Given the description of an element on the screen output the (x, y) to click on. 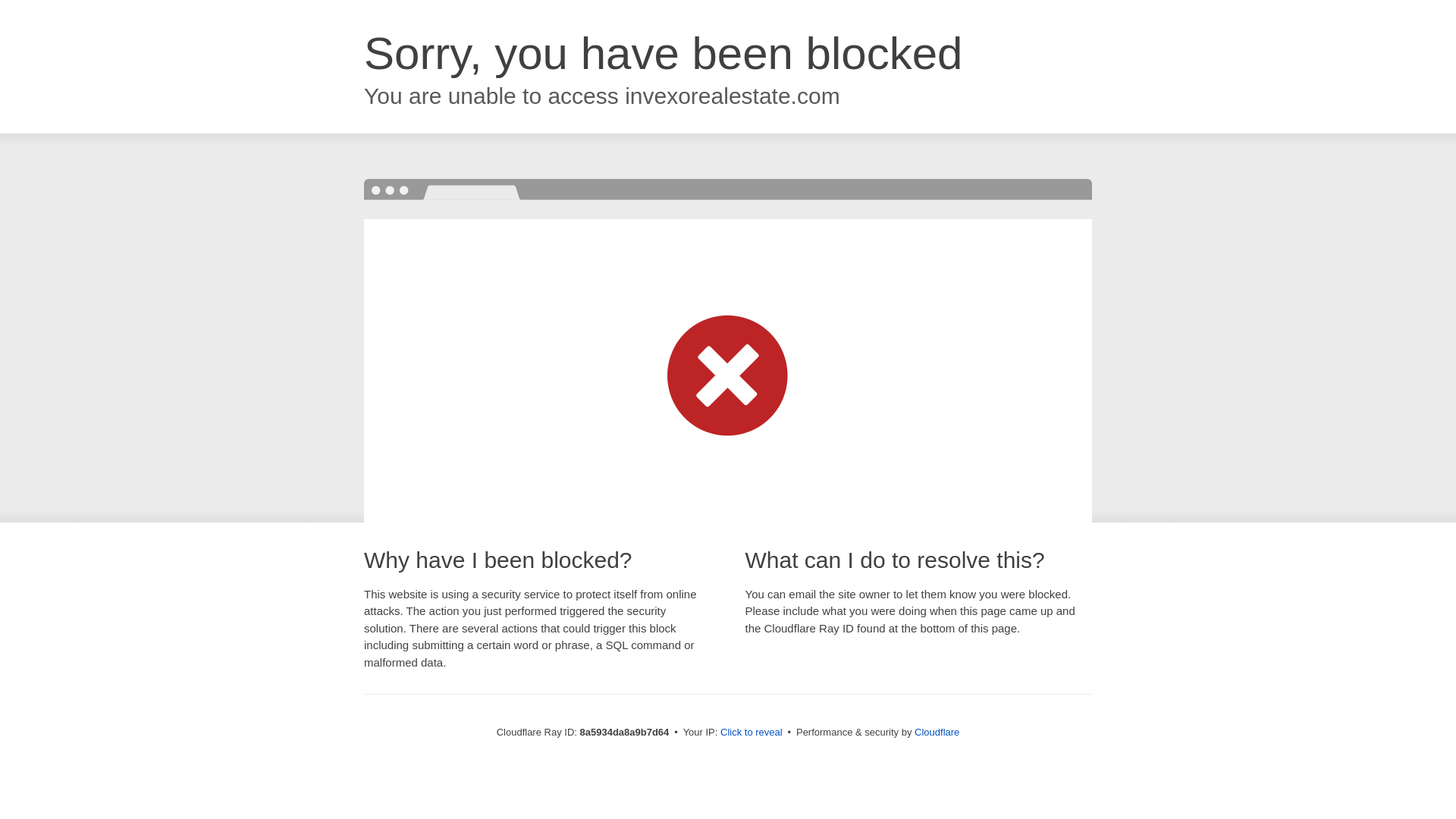
Cloudflare (936, 731)
Click to reveal (751, 732)
